Given the description of an element on the screen output the (x, y) to click on. 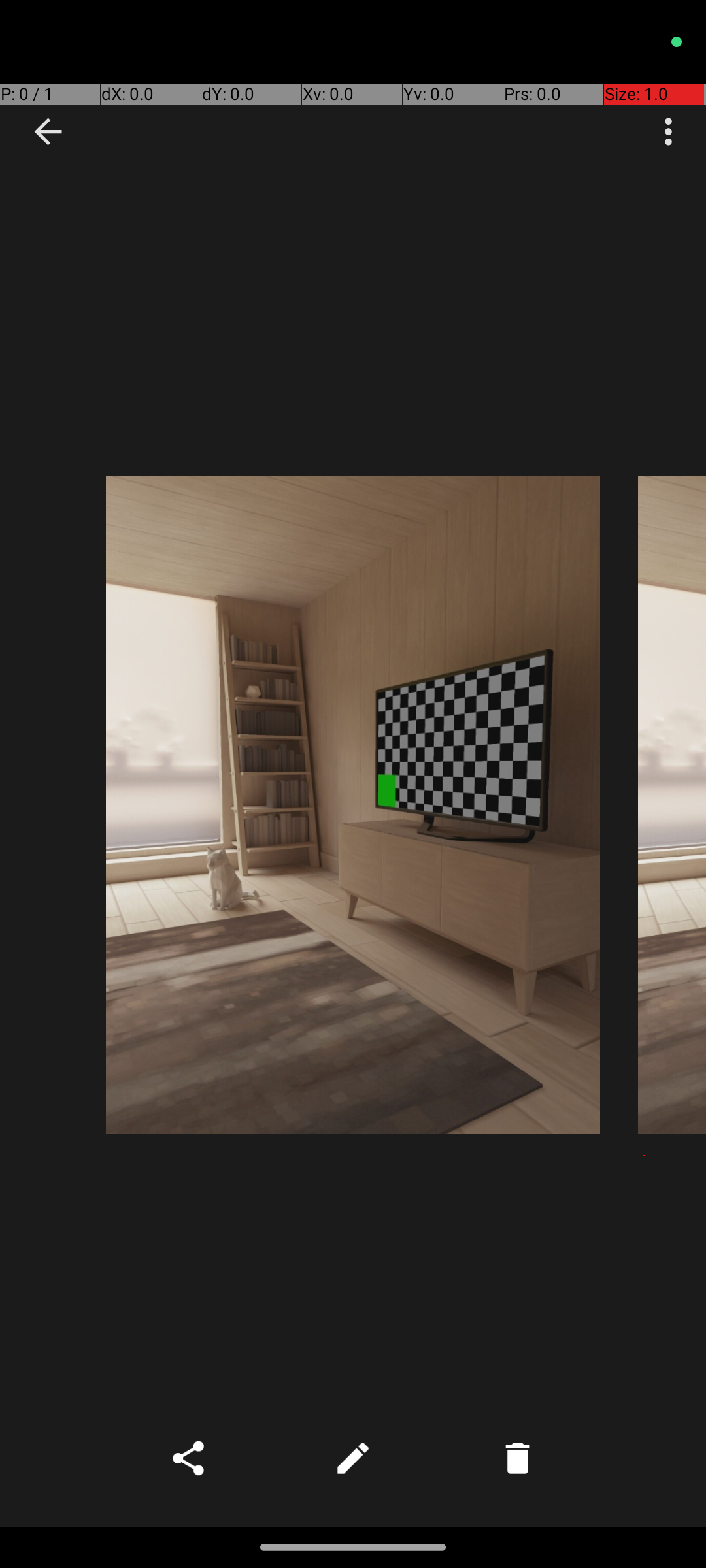
Photo taken on Oct 15, 2023 15:34:25 Element type: android.widget.ImageView (352, 804)
Photo taken on Oct 15, 2023 15:34:20 Element type: android.widget.ImageView (672, 804)
